Given the description of an element on the screen output the (x, y) to click on. 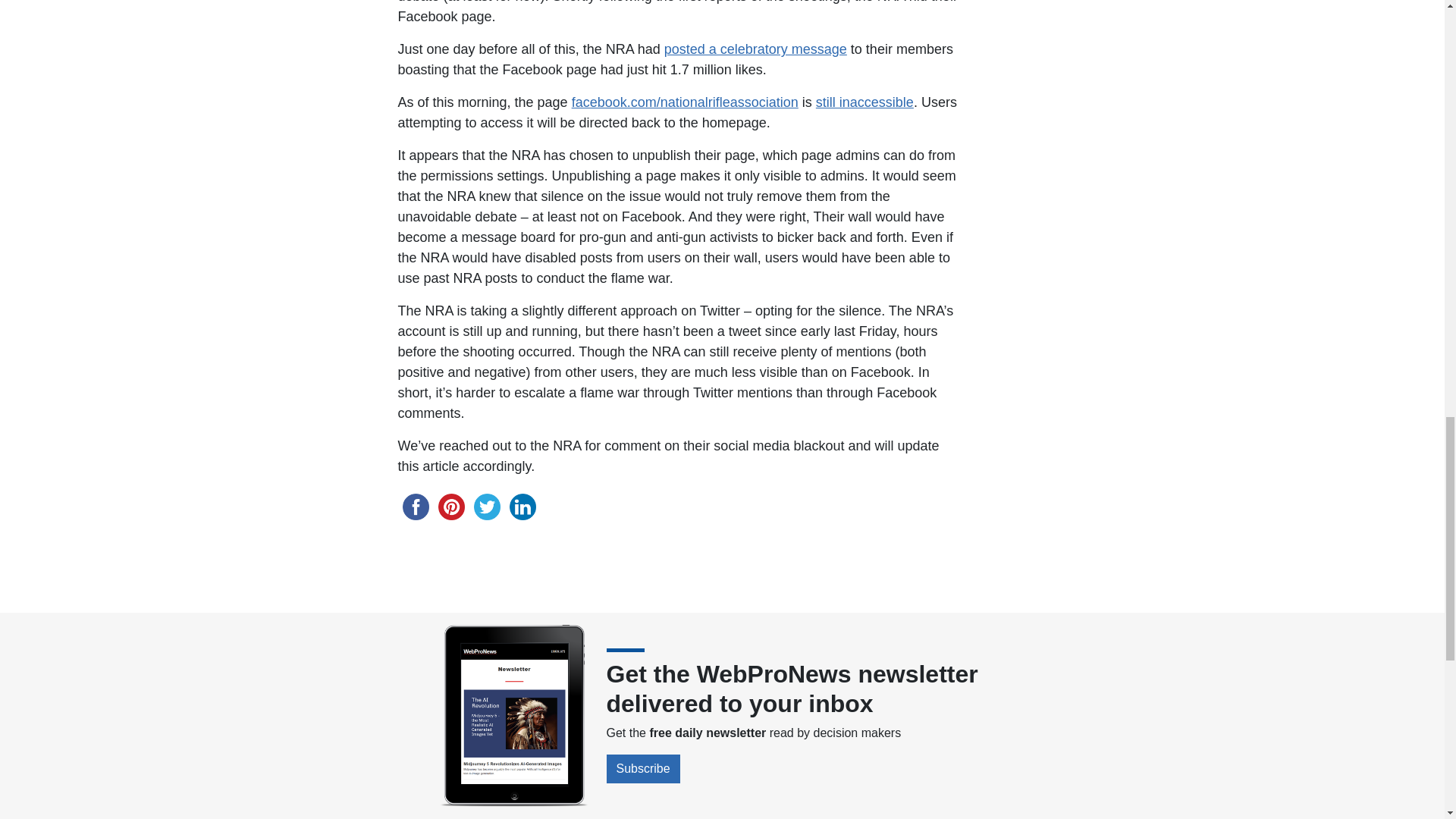
twitter (485, 506)
facebook (414, 506)
pinterest (450, 506)
